Given the description of an element on the screen output the (x, y) to click on. 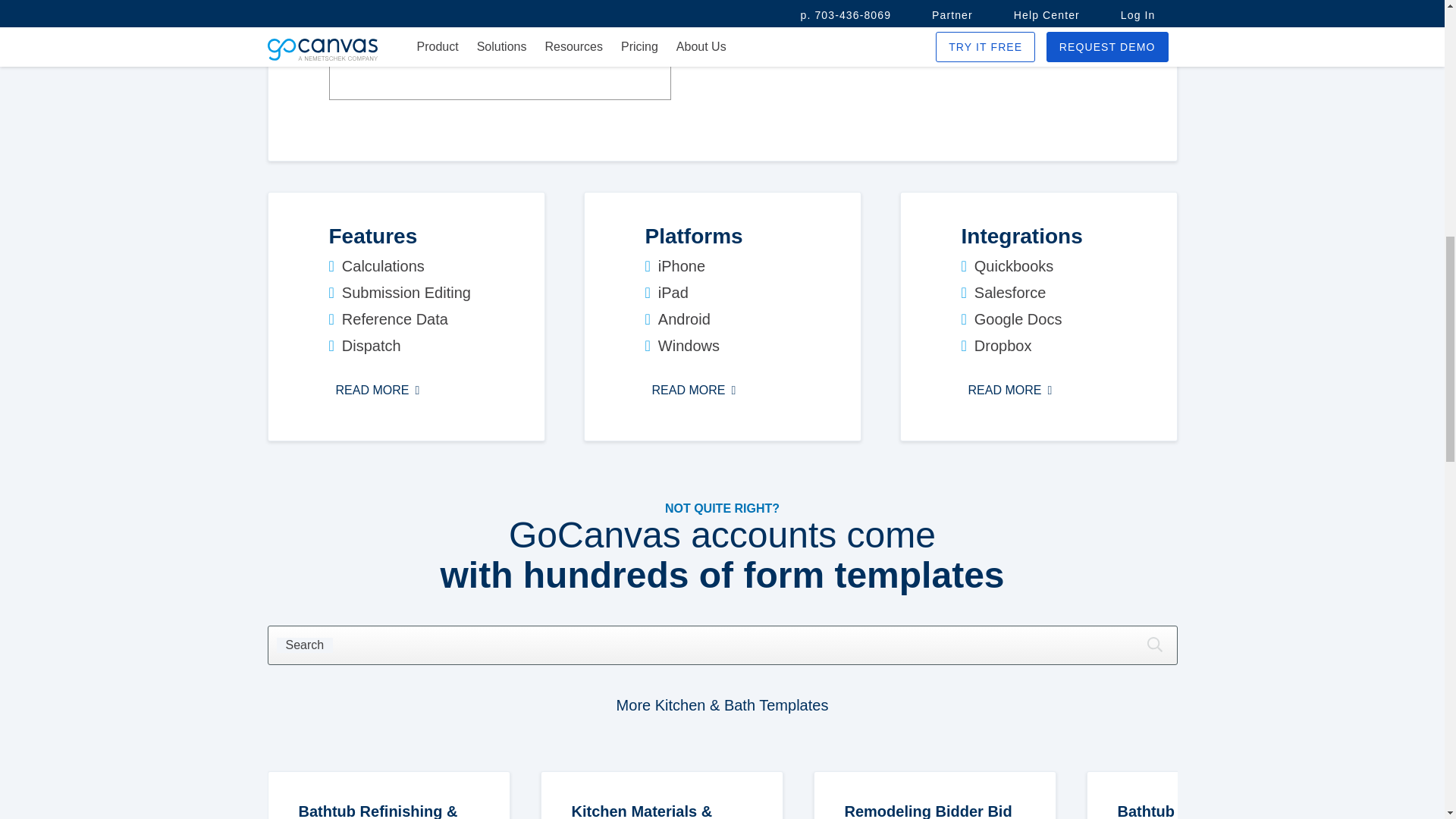
READ MORE (693, 390)
READ MORE (1009, 390)
READ MORE (377, 390)
